Given the description of an element on the screen output the (x, y) to click on. 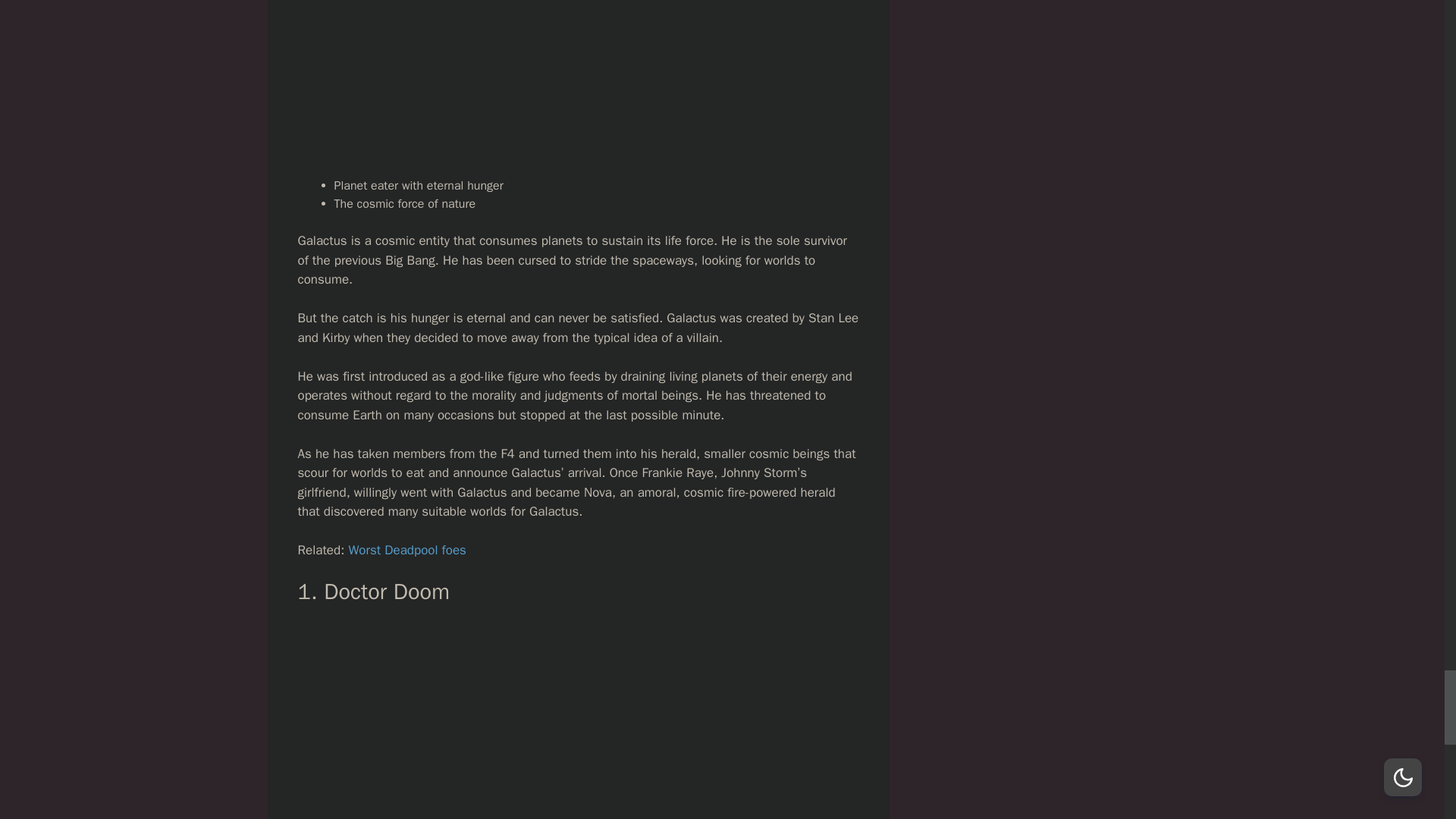
Worst Deadpool foes (406, 549)
